Given the description of an element on the screen output the (x, y) to click on. 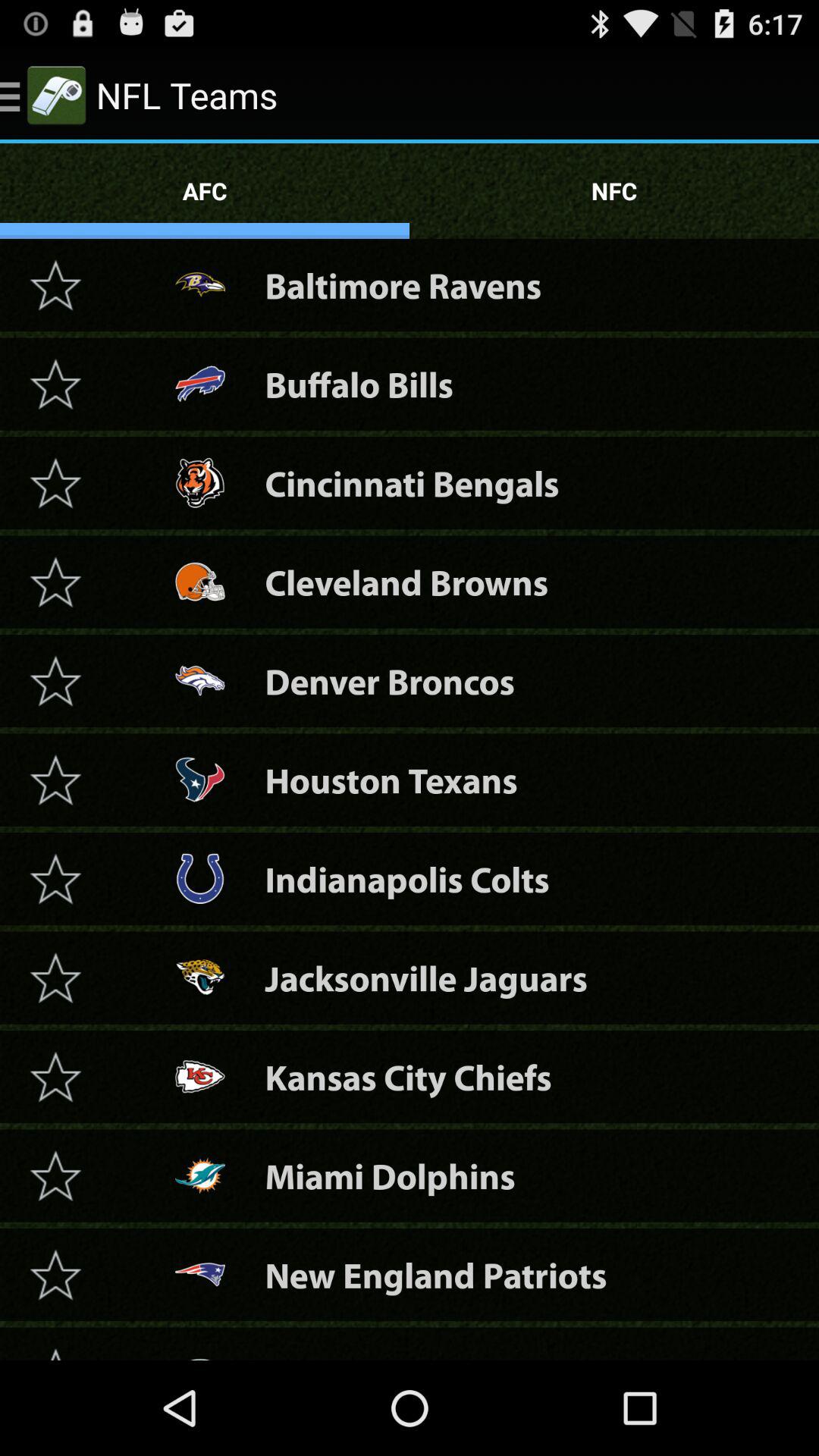
mark favorite (55, 383)
